Given the description of an element on the screen output the (x, y) to click on. 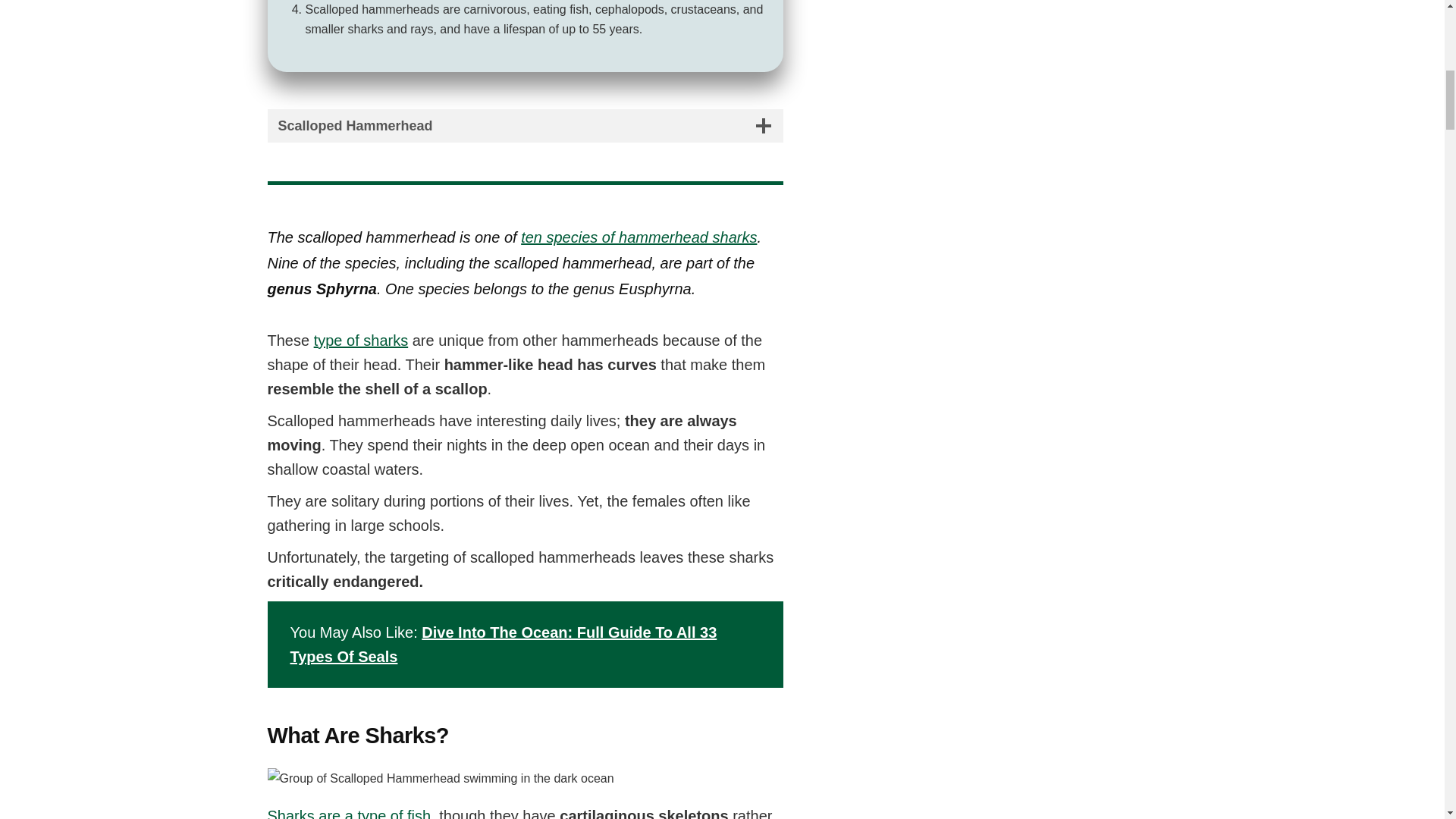
Sharks are a type of fish (348, 813)
Dive Into The Ocean: Full Guide To All 33 Types Of Seals (502, 644)
ten species of hammerhead sharks (639, 237)
Scalloped Hammerhead (524, 125)
type of sharks (361, 340)
